Given the description of an element on the screen output the (x, y) to click on. 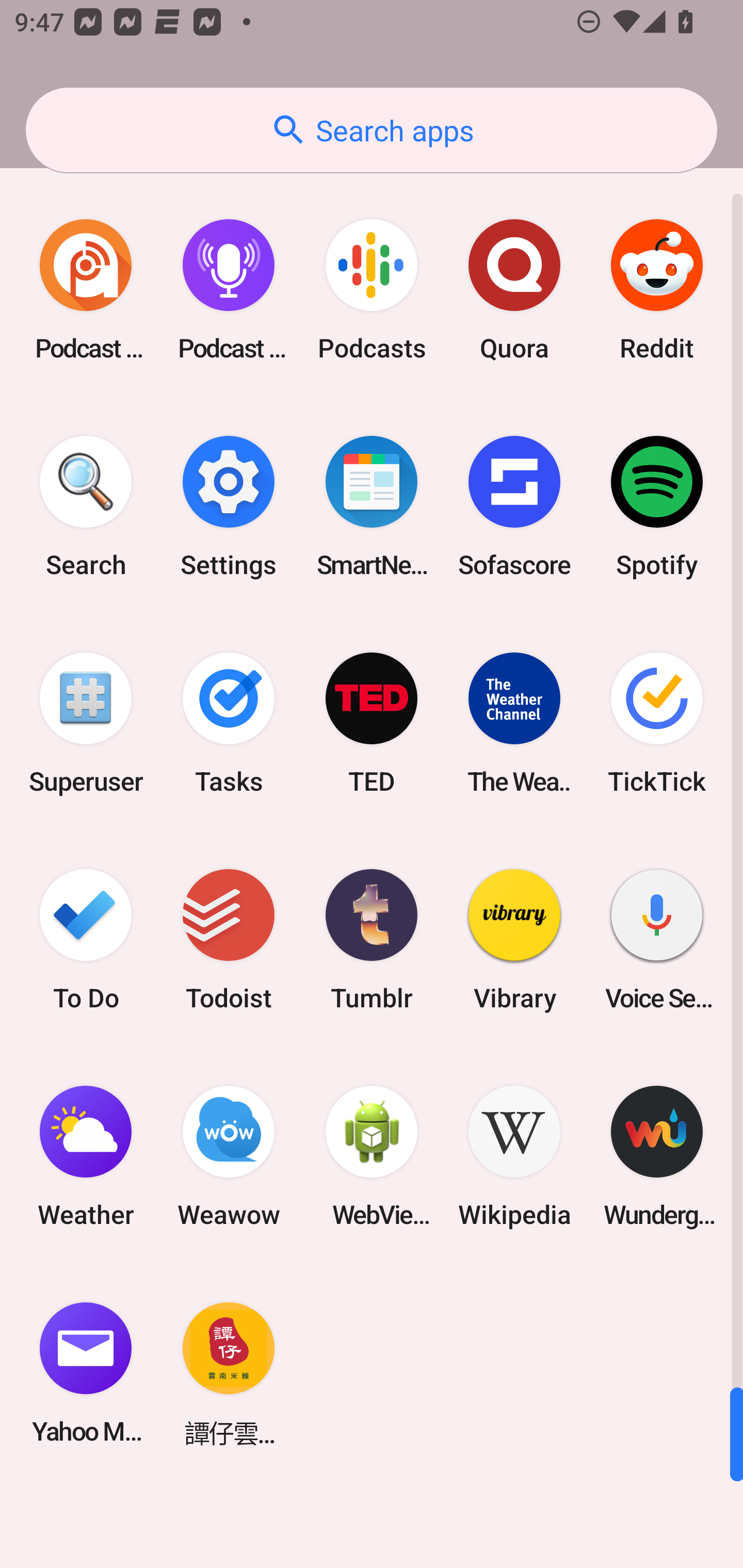
  Search apps (371, 130)
Podcast Addict (85, 289)
Podcast Player (228, 289)
Podcasts (371, 289)
Quora (514, 289)
Reddit (656, 289)
Search (85, 506)
Settings (228, 506)
SmartNews (371, 506)
Sofascore (514, 506)
Spotify (656, 506)
Superuser (85, 722)
Tasks (228, 722)
TED (371, 722)
The Weather Channel (514, 722)
TickTick (656, 722)
To Do (85, 939)
Todoist (228, 939)
Tumblr (371, 939)
Vibrary (514, 939)
Voice Search (656, 939)
Weather (85, 1156)
Weawow (228, 1156)
WebView Browser Tester (371, 1156)
Wikipedia (514, 1156)
Wunderground (656, 1156)
Yahoo Mail (85, 1373)
譚仔雲南米線 (228, 1373)
